Given the description of an element on the screen output the (x, y) to click on. 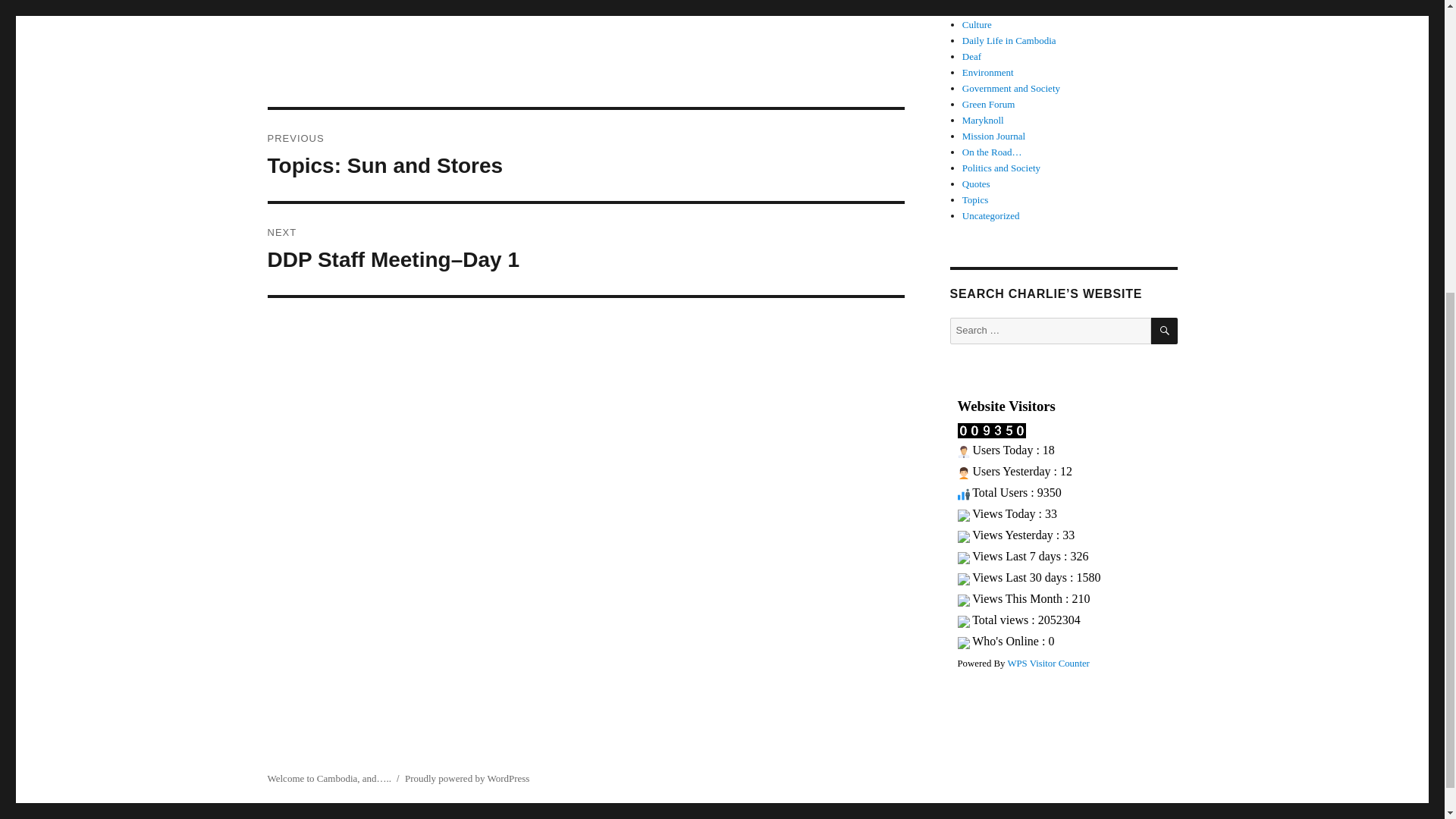
Uncategorized (991, 215)
Green Forum (988, 103)
Deaf (971, 56)
Government and Society (1010, 88)
Church (976, 8)
Daily Life in Cambodia (1009, 40)
Proudly powered by WordPress (466, 778)
Mission Journal (993, 135)
SEARCH (1164, 330)
Politics and Society (1001, 167)
